Given the description of an element on the screen output the (x, y) to click on. 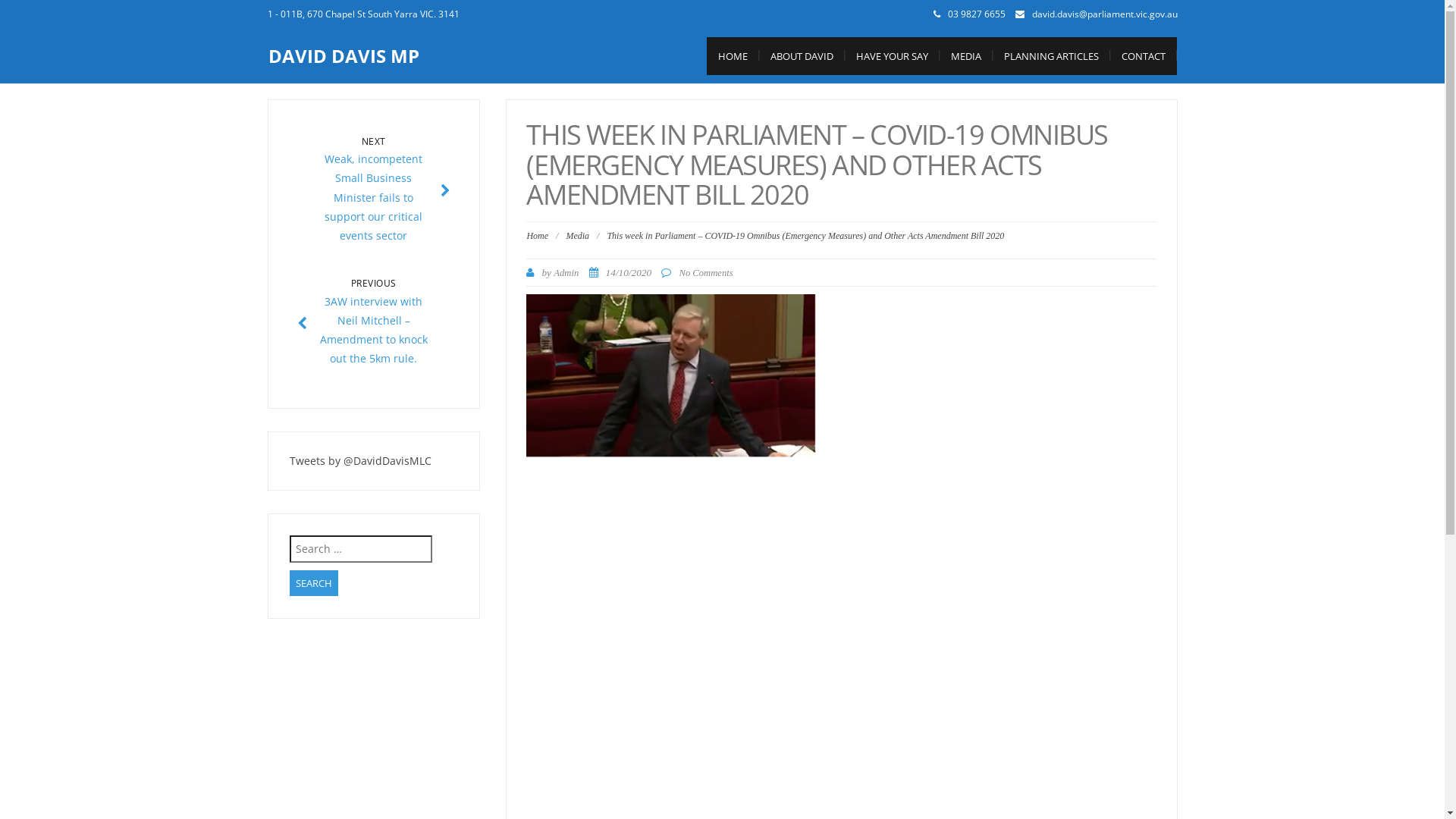
MEDIA Element type: text (964, 56)
Home Element type: text (537, 235)
ABOUT DAVID Element type: text (801, 56)
HOME Element type: text (732, 56)
Search Element type: text (313, 583)
CONTACT Element type: text (1143, 56)
Tweets by @DavidDavisMLC Element type: text (360, 460)
No Comments Element type: text (705, 272)
david.davis@parliament.vic.gov.au Element type: text (1103, 13)
PLANNING ARTICLES Element type: text (1050, 56)
DAVID DAVIS MP Element type: text (343, 55)
Media Element type: text (577, 235)
Admin Element type: text (565, 272)
HAVE YOUR SAY Element type: text (891, 56)
